Given the description of an element on the screen output the (x, y) to click on. 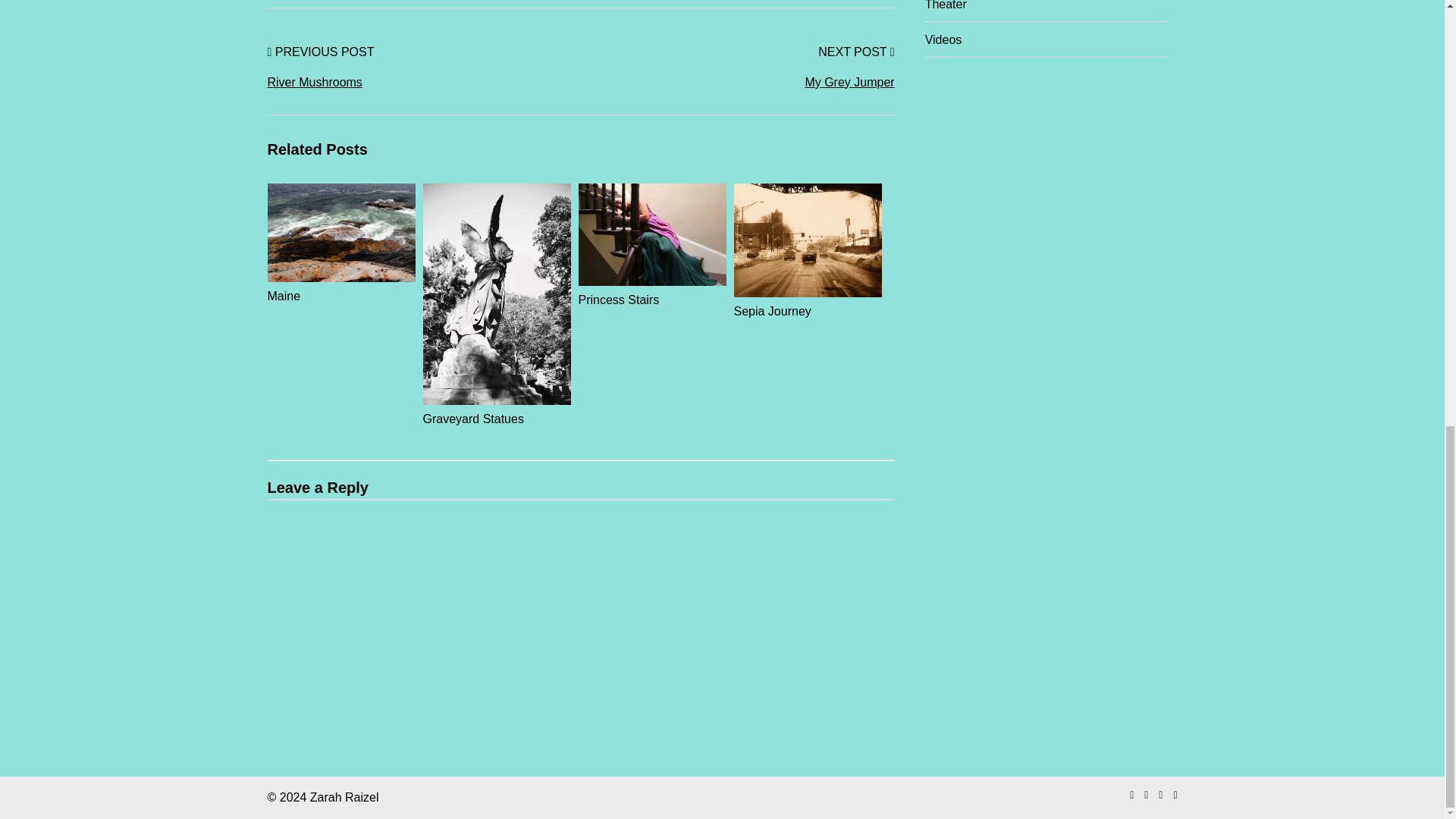
Sepia Journey (807, 301)
Princess Stairs (651, 290)
Sepia Journey (807, 301)
My Grey Jumper (737, 82)
Princess Stairs (651, 290)
Maine (340, 286)
Graveyard Statues (496, 409)
Maine (340, 286)
River Mushrooms (423, 82)
Graveyard Statues (496, 409)
